Given the description of an element on the screen output the (x, y) to click on. 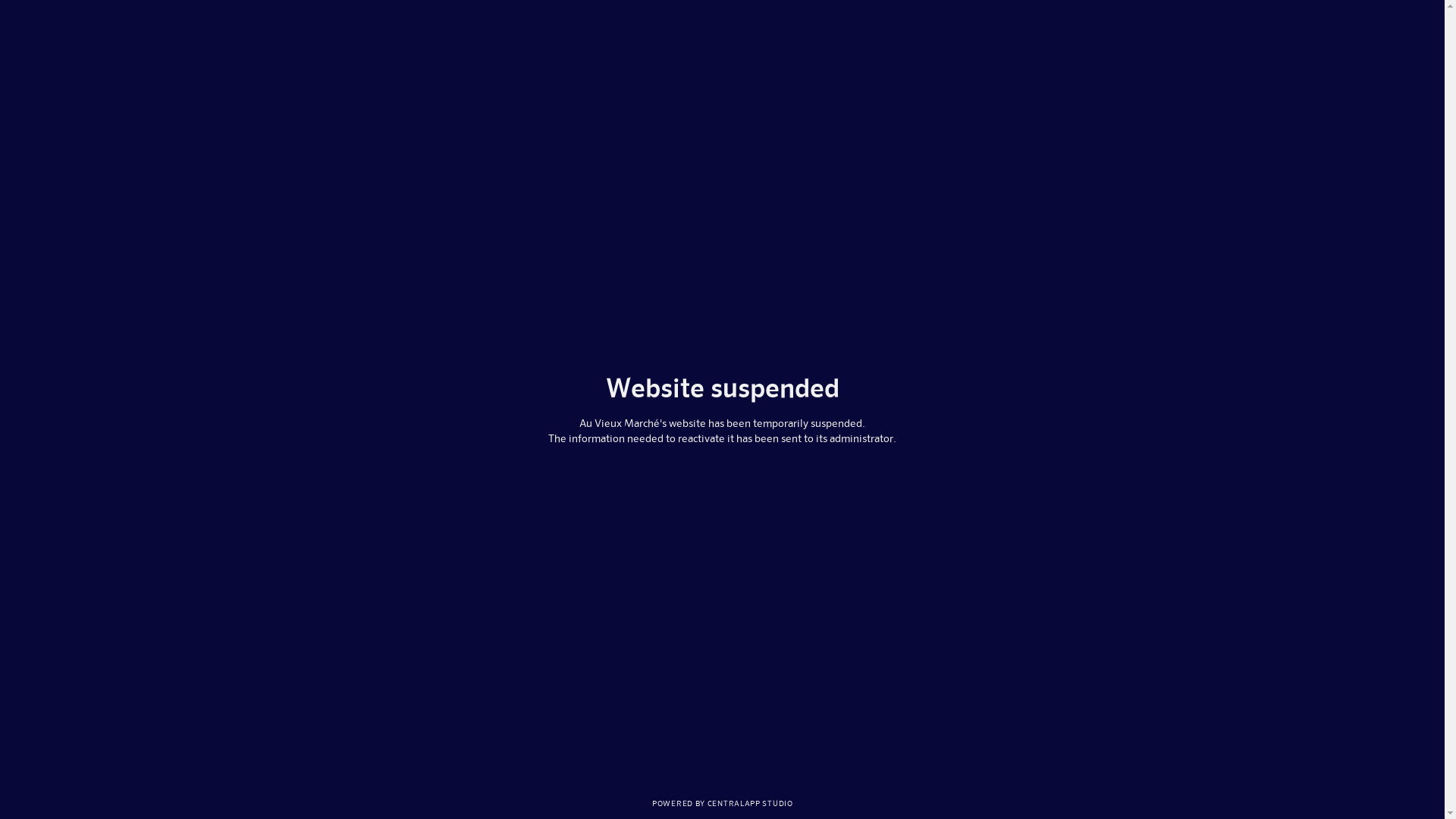
Powered by Centralapp Studio Element type: text (721, 802)
